Given the description of an element on the screen output the (x, y) to click on. 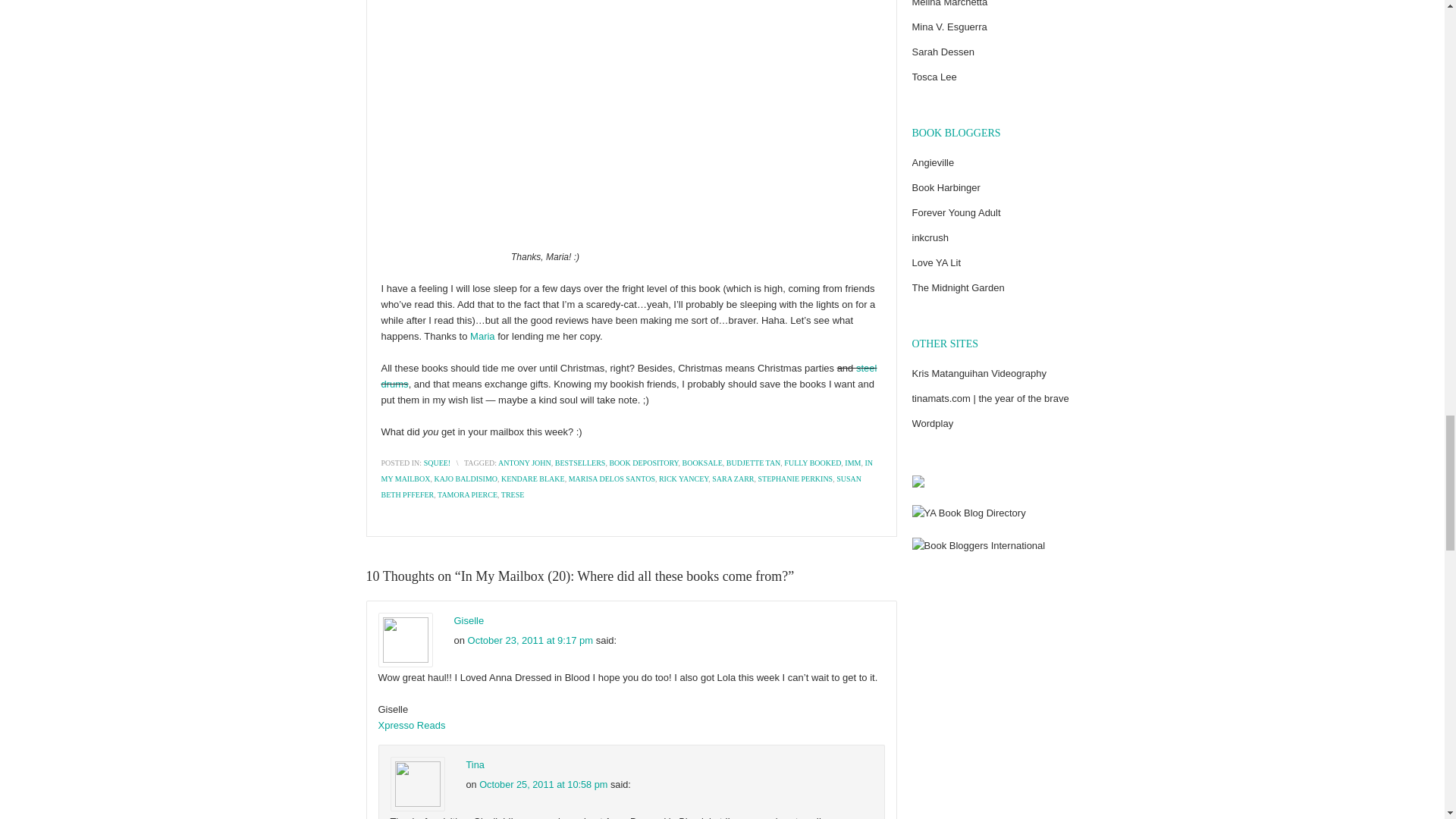
October 25, 2011 at 10:58 pm (543, 784)
SQUEE! (437, 462)
Maria (482, 336)
Xpresso Reads (411, 725)
FULLY BOOKED (812, 462)
IN MY MAILBOX (626, 470)
RICK YANCEY (683, 479)
MARISA DELOS SANTOS (612, 479)
SARA ZARR (732, 479)
TRESE (512, 494)
TAMORA PIERCE (467, 494)
SUSAN BETH PFFEFER (620, 486)
steel drums (628, 375)
BUDJETTE TAN (753, 462)
Giselle (467, 620)
